Given the description of an element on the screen output the (x, y) to click on. 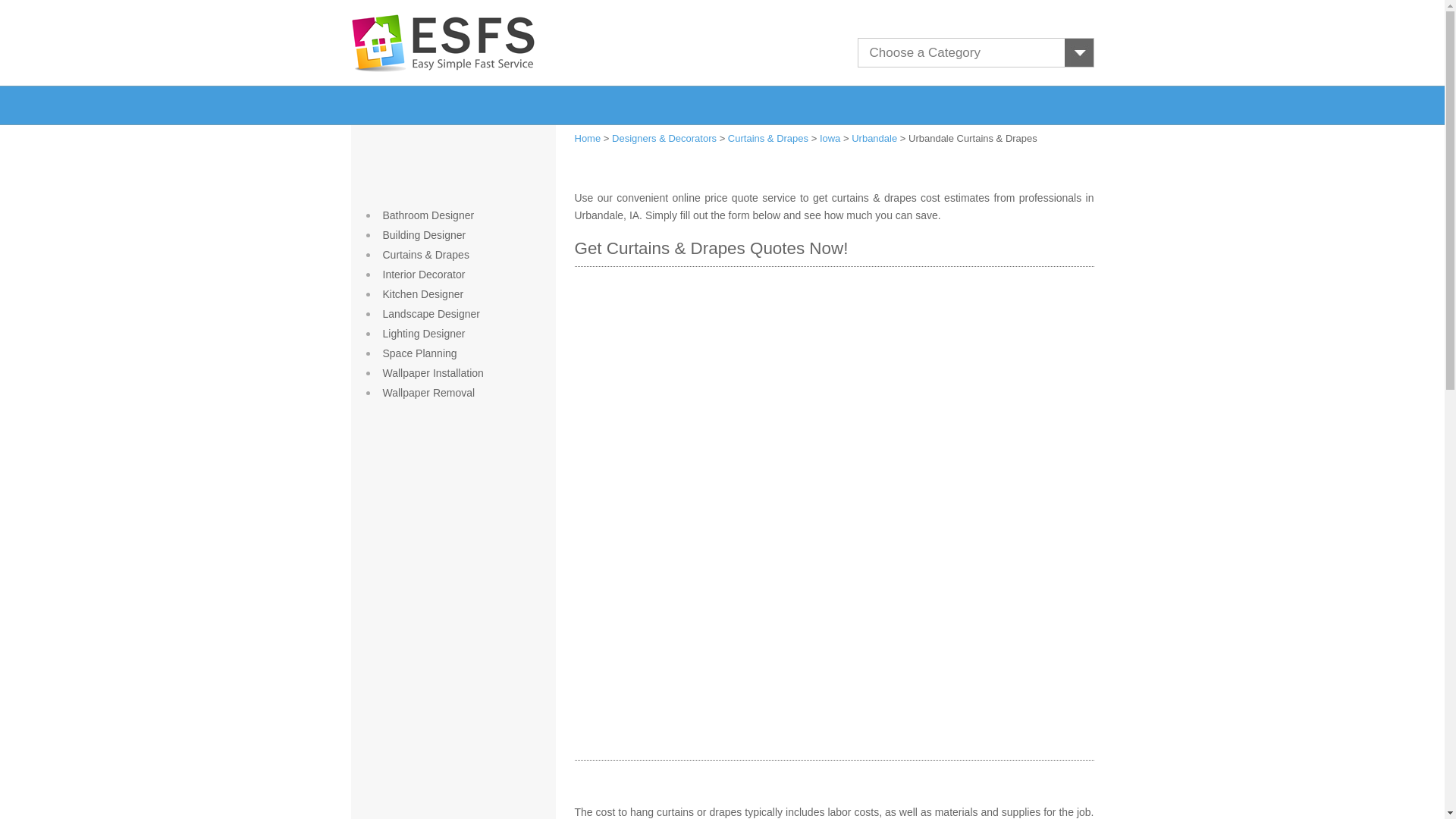
Home (588, 138)
Urbandale (873, 138)
Wallpaper Removal (427, 392)
Bathroom Designer (427, 215)
Interior Decorator (422, 274)
Landscape Designer (430, 313)
Building Designer (423, 234)
Wallpaper Installation (432, 372)
Iowa (829, 138)
Space Planning (419, 353)
